Given the description of an element on the screen output the (x, y) to click on. 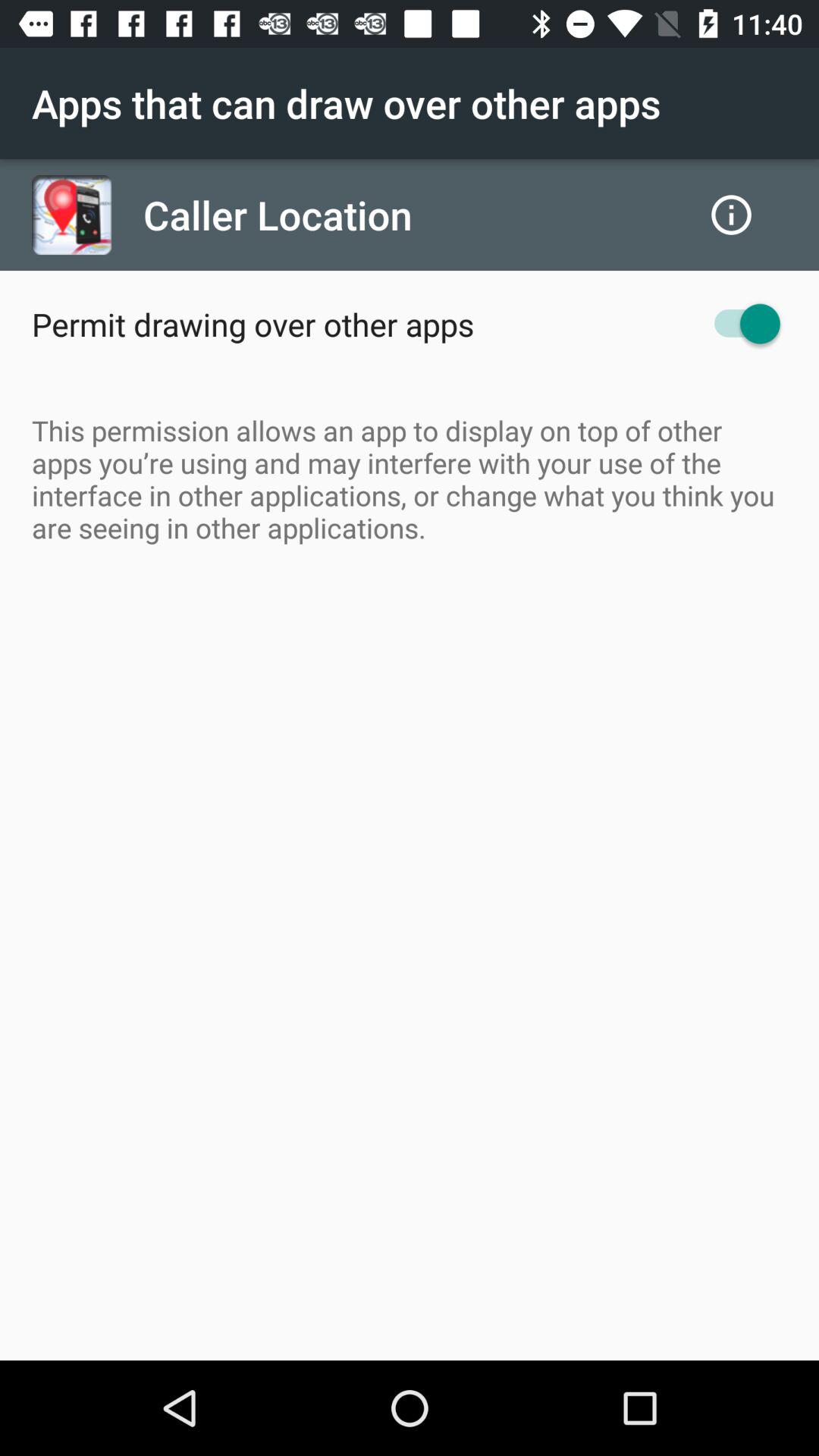
choose the app to the right of the caller location icon (731, 214)
